Given the description of an element on the screen output the (x, y) to click on. 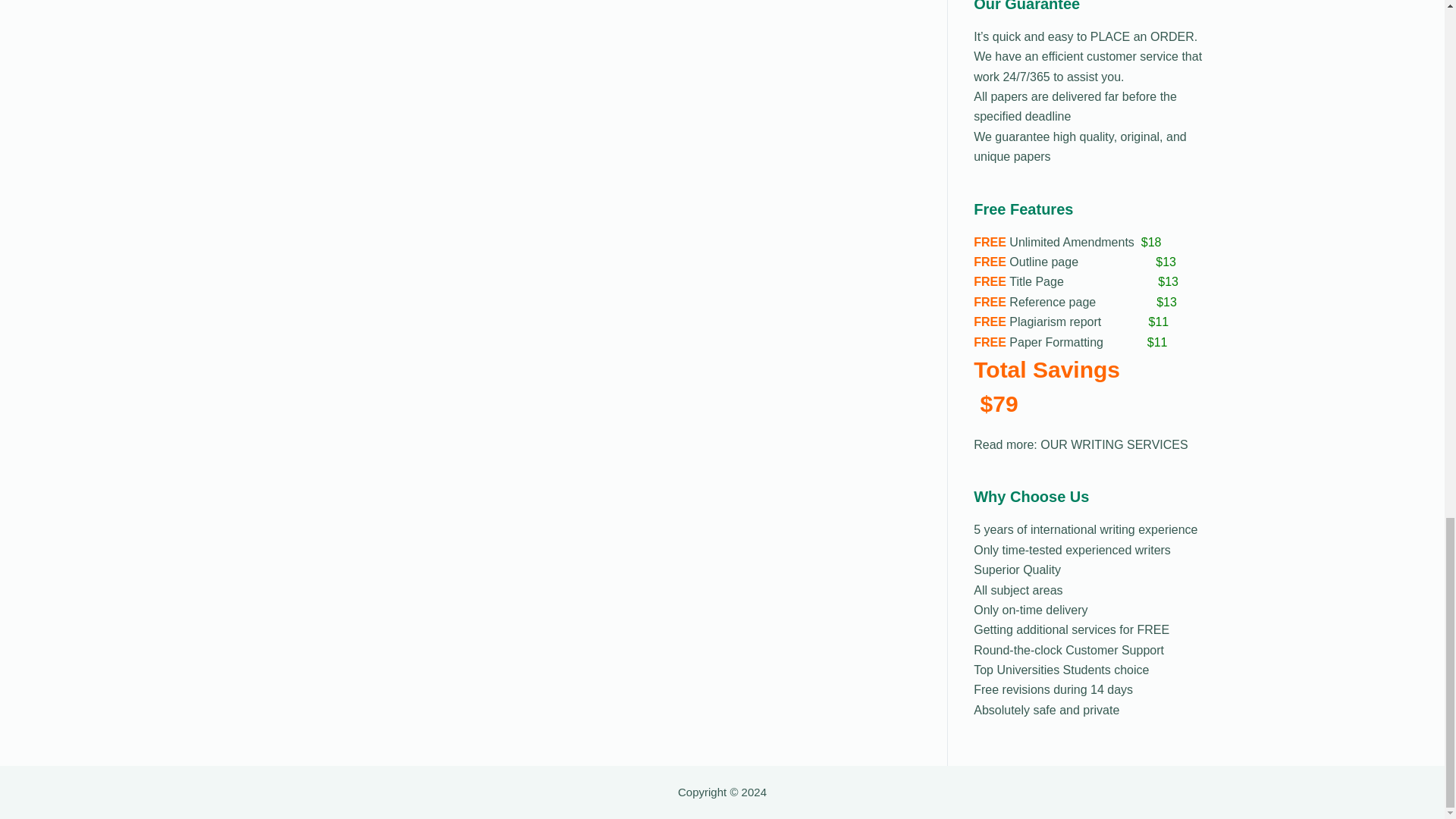
OUR WRITING SERVICES (1114, 444)
PLACE an ORDER. (1141, 36)
